Given the description of an element on the screen output the (x, y) to click on. 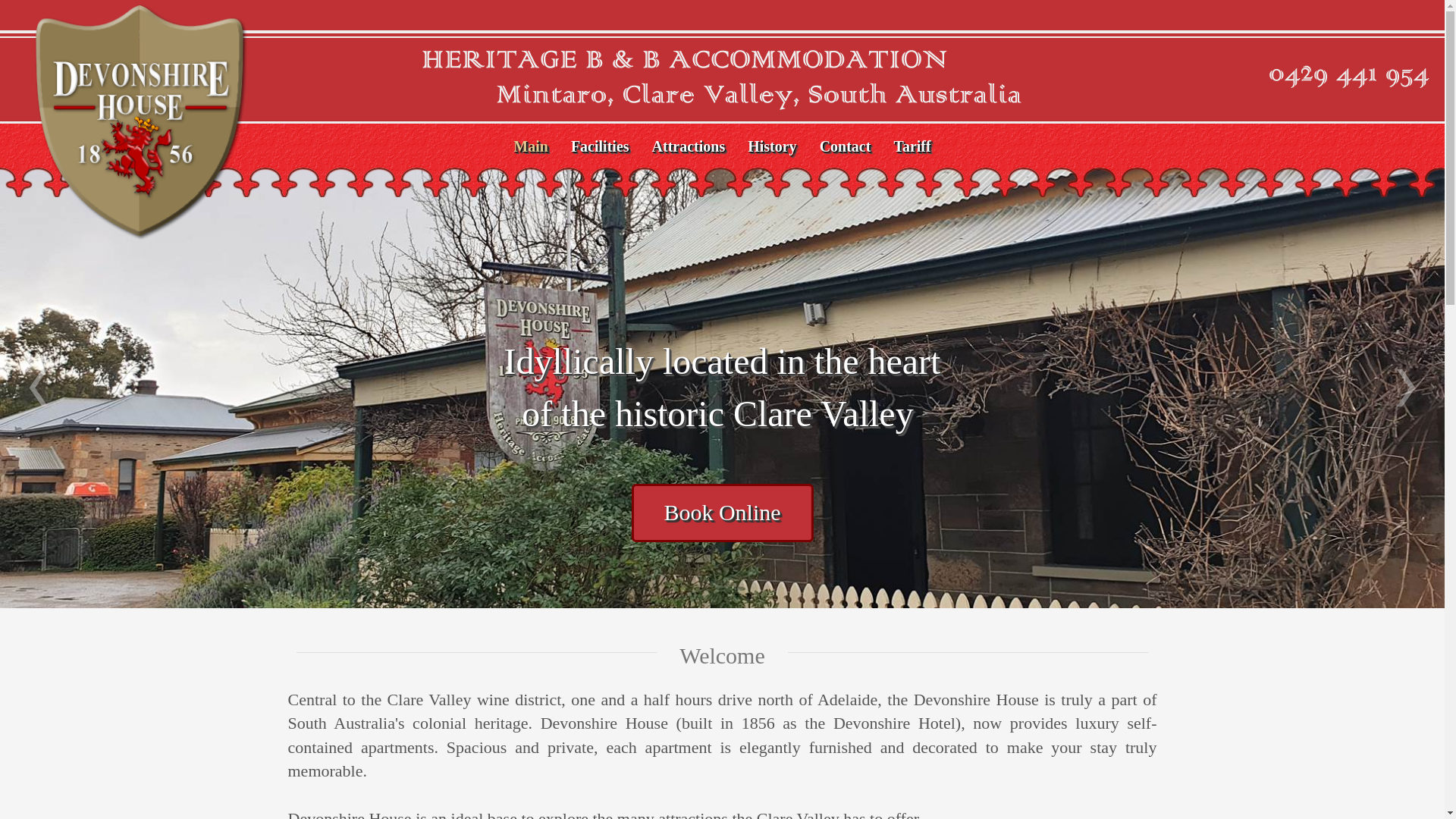
Facilities Element type: text (599, 146)
Book Online Element type: text (721, 512)
Attractions Element type: text (688, 146)
Tariff Element type: text (911, 146)
Contact Element type: text (845, 146)
History Element type: text (771, 146)
Main Element type: text (530, 146)
Devonshire House - Book online or call now. Element type: hover (1349, 76)
